Given the description of an element on the screen output the (x, y) to click on. 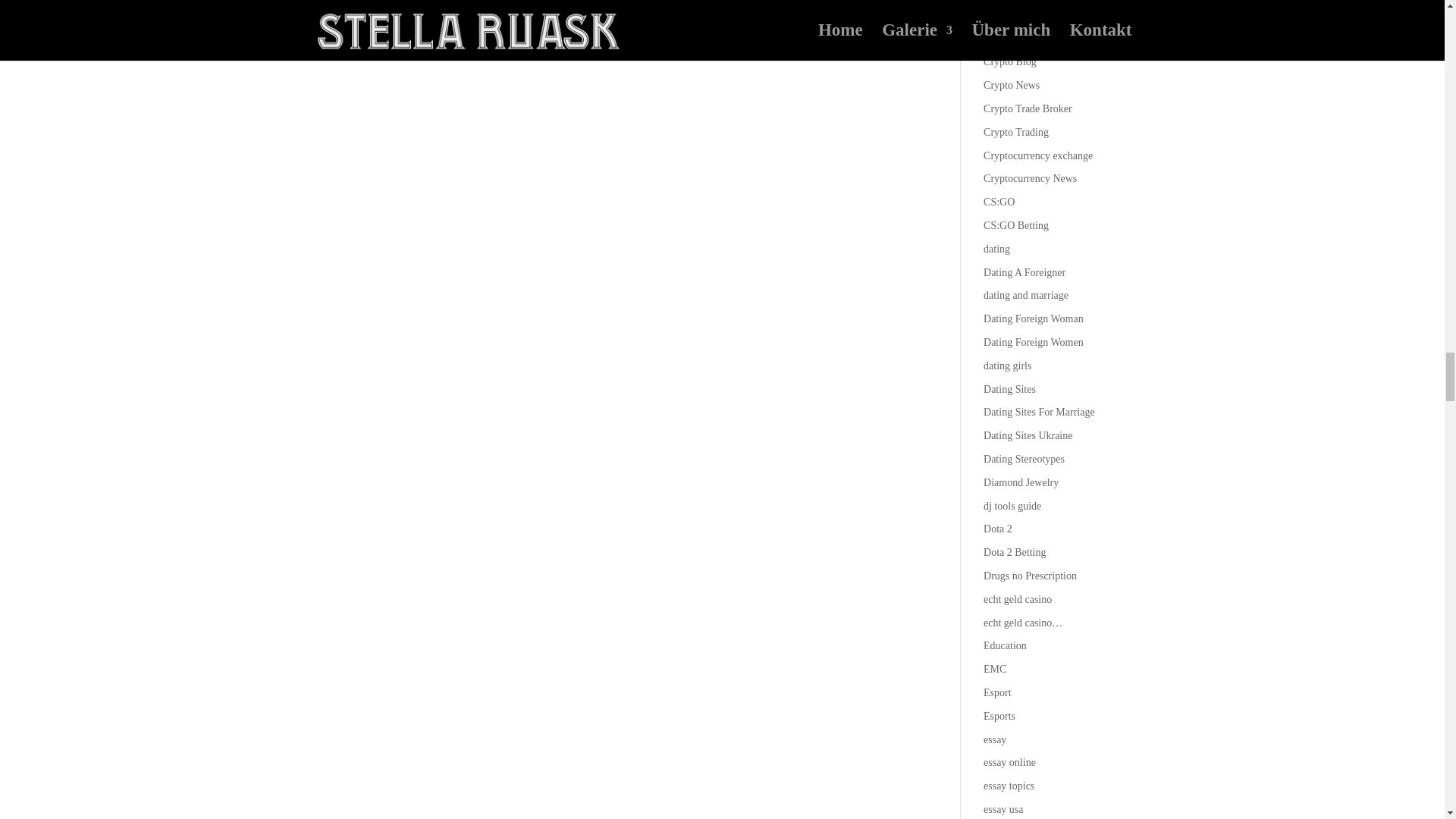
Computers, Games (1024, 15)
